Given the description of an element on the screen output the (x, y) to click on. 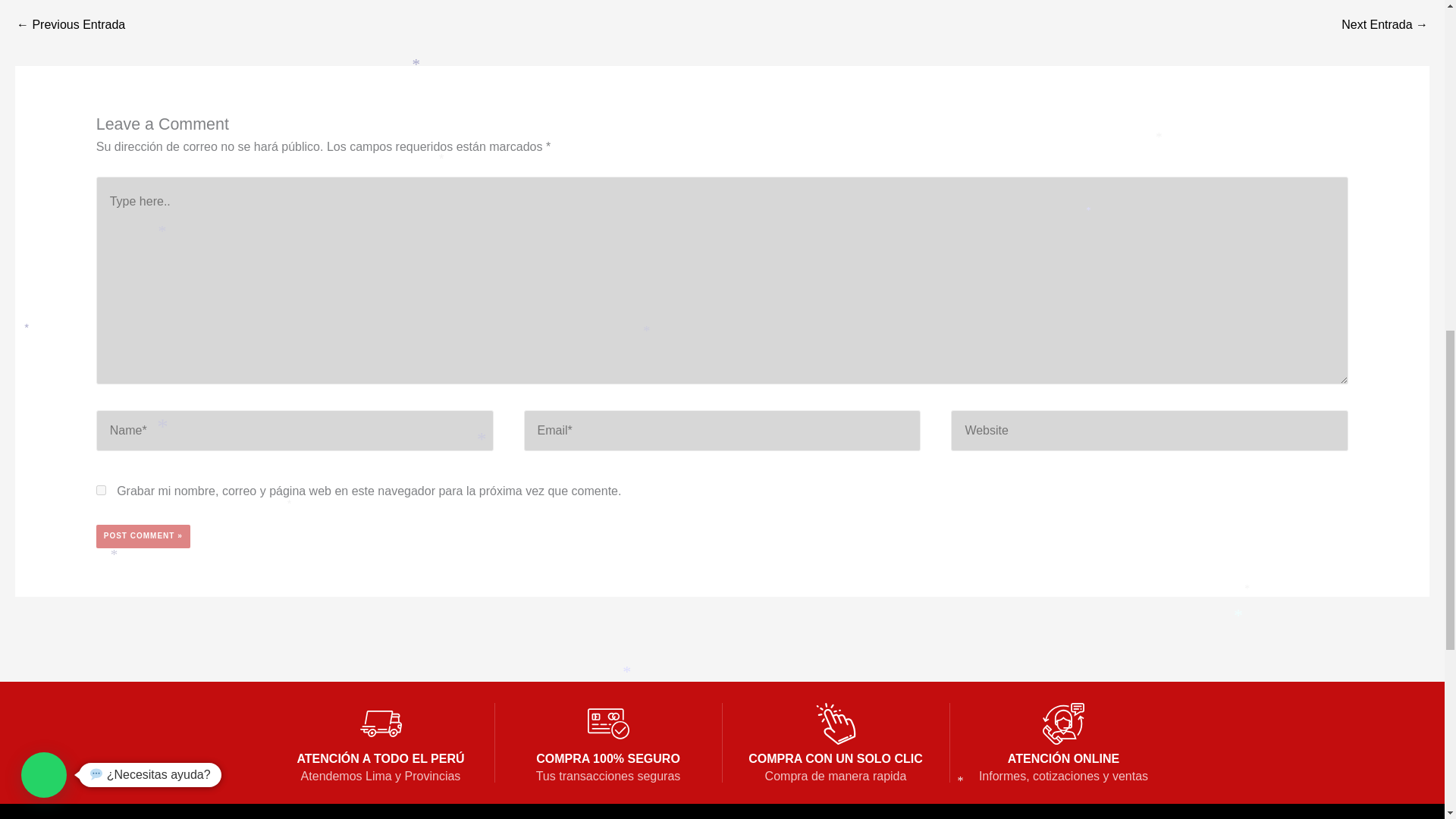
Zdobycie GGBet w wakacjach (1384, 26)
Should You Kiss Your Date on the First Time frame? (70, 26)
yes (101, 490)
